Given the description of an element on the screen output the (x, y) to click on. 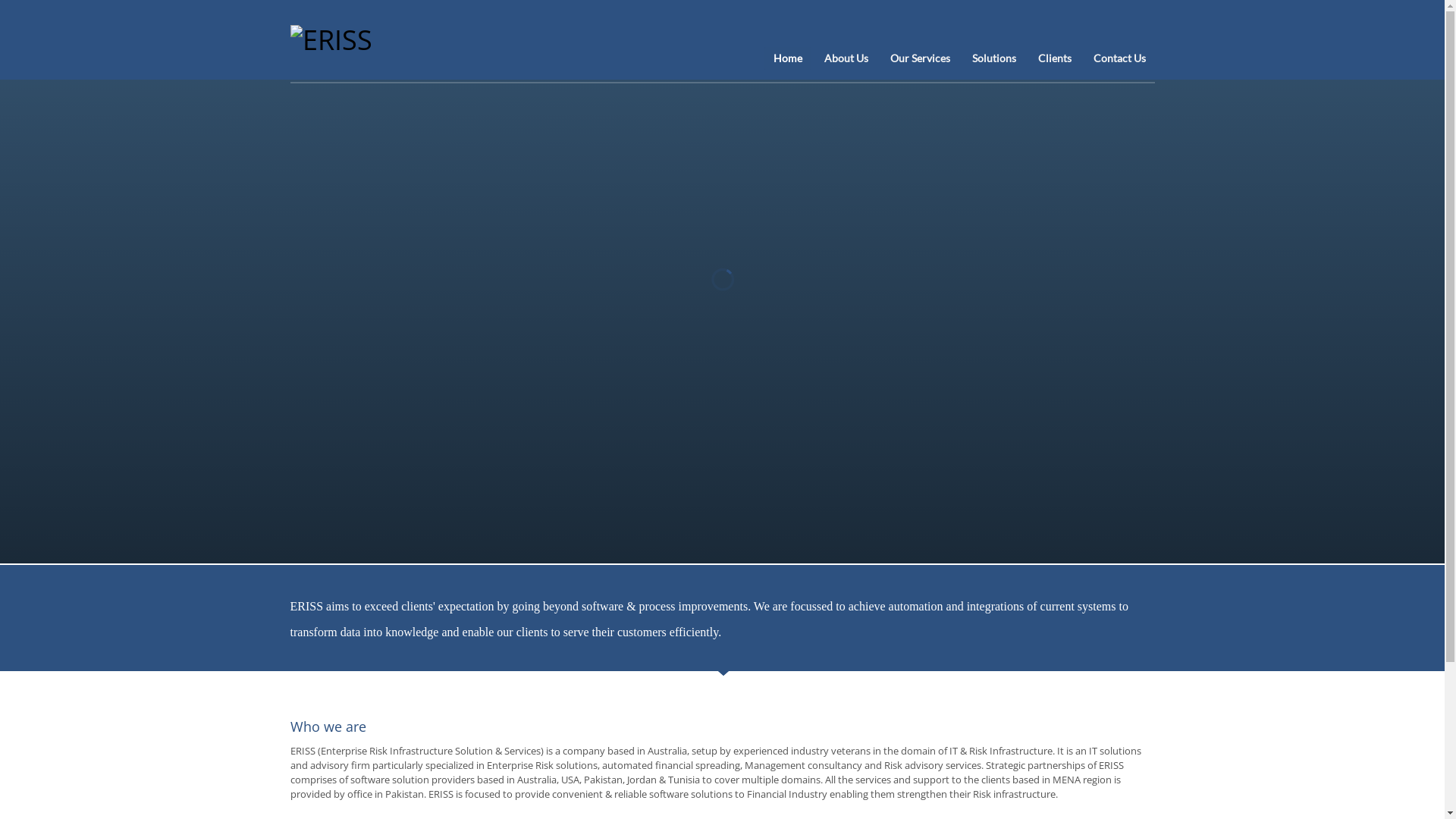
About Us Element type: text (846, 58)
Innovating Risk Architectures Element type: hover (330, 39)
Solutions Element type: text (994, 58)
Clients Element type: text (1054, 58)
Our Services Element type: text (920, 58)
Contact Us Element type: text (1119, 58)
Home Element type: text (787, 58)
